Given the description of an element on the screen output the (x, y) to click on. 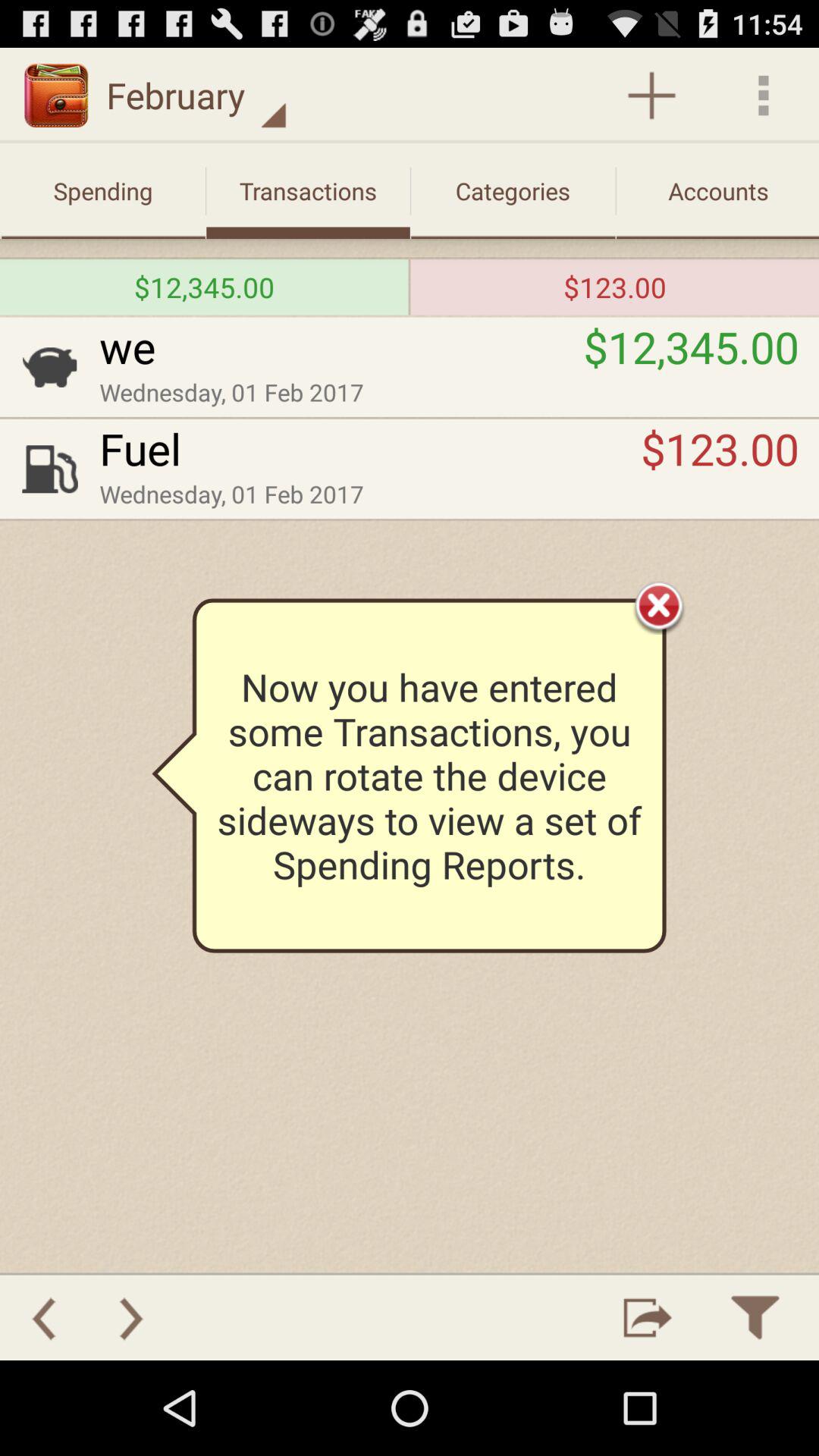
open icon next to the $123.00 app (409, 287)
